Given the description of an element on the screen output the (x, y) to click on. 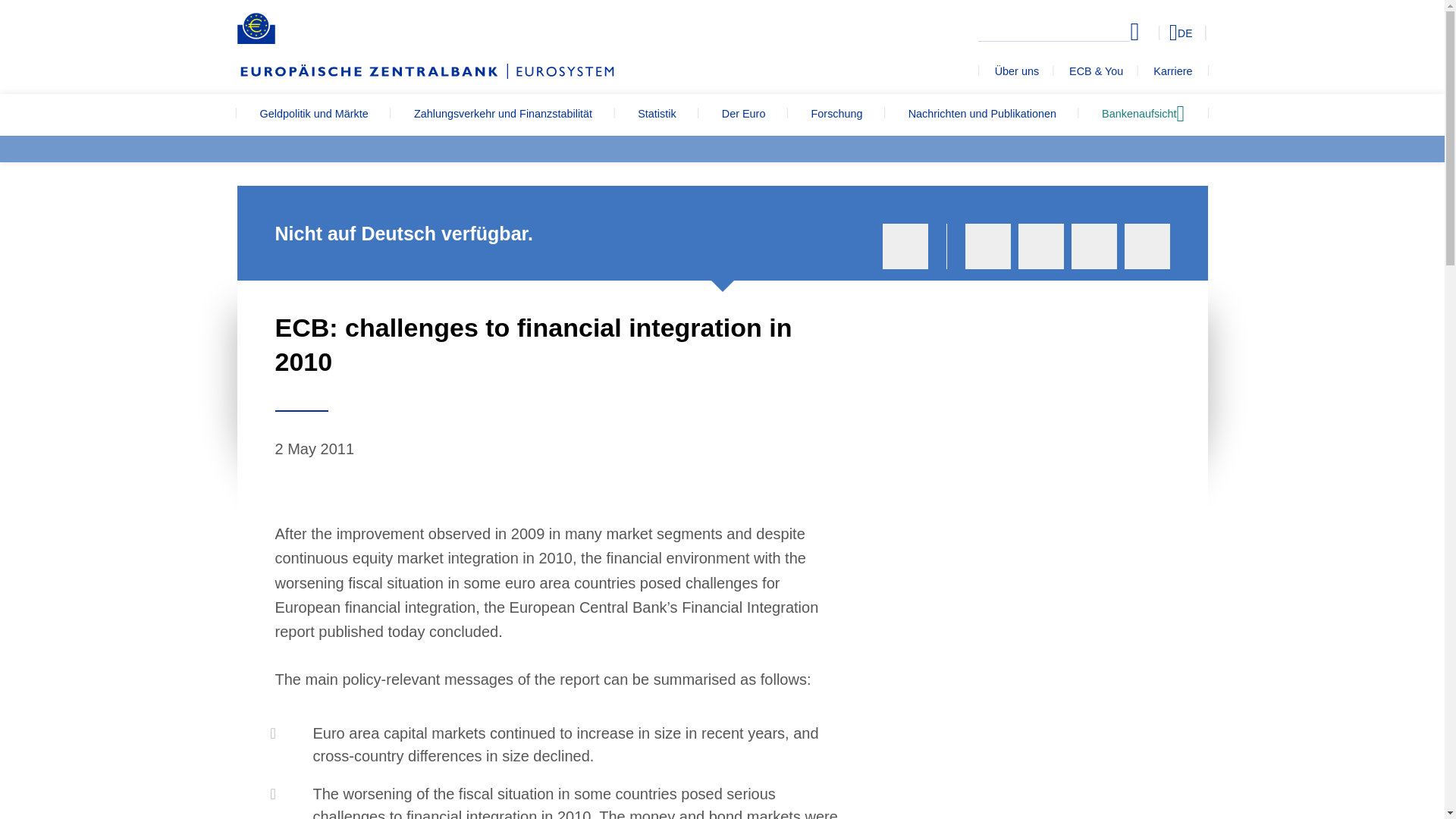
Select language (1153, 32)
